Given the description of an element on the screen output the (x, y) to click on. 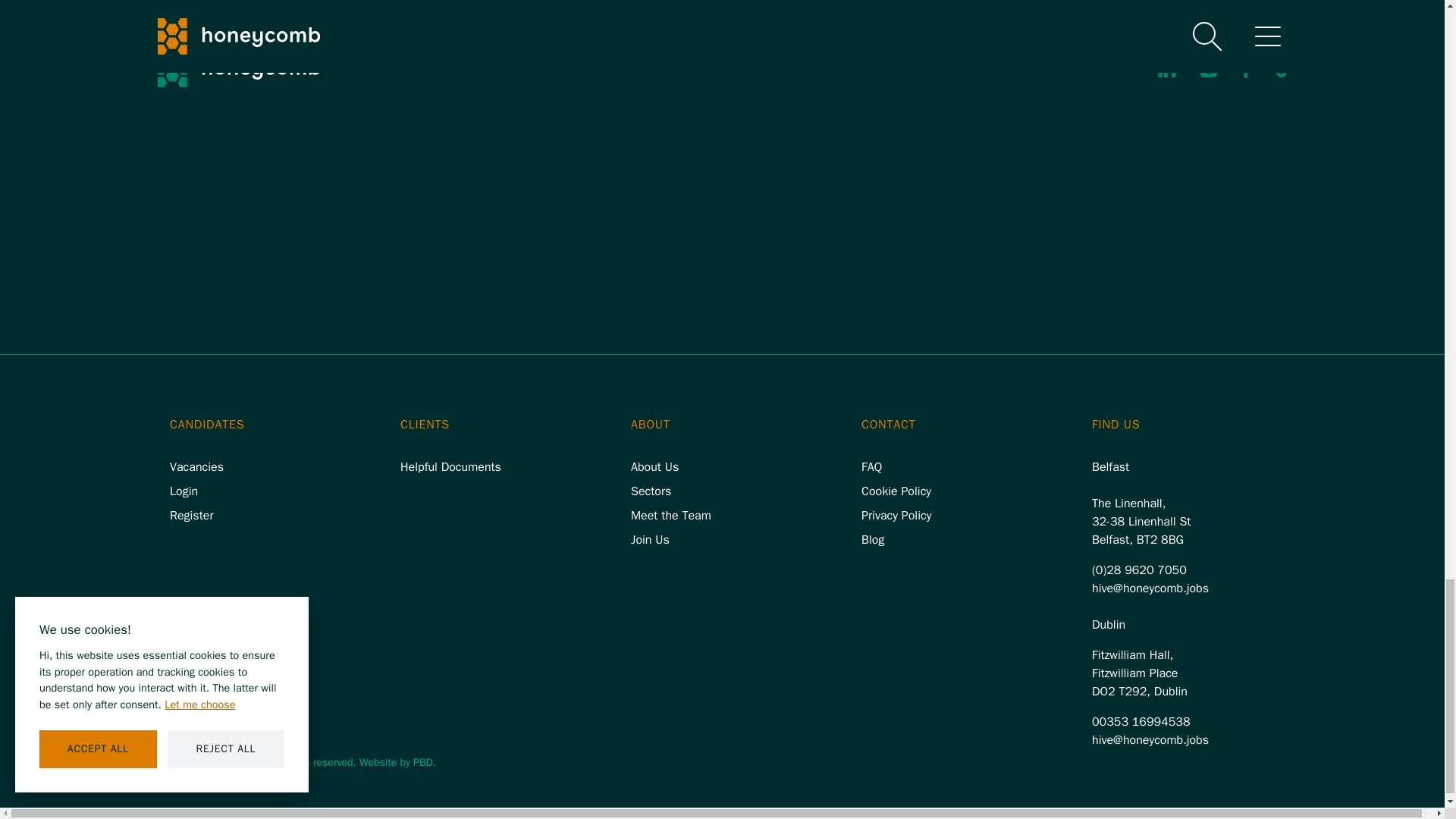
00353 16994538 (1141, 721)
Helpful Documents (450, 467)
Vacancies (197, 467)
Meet the Team (670, 515)
About Us (654, 467)
Cookie Policy (896, 491)
Login (184, 491)
Blog (872, 539)
Register (192, 515)
Privacy Policy (896, 515)
Join Us (649, 539)
PBD (422, 762)
FAQ (871, 467)
Sectors (650, 491)
